Given the description of an element on the screen output the (x, y) to click on. 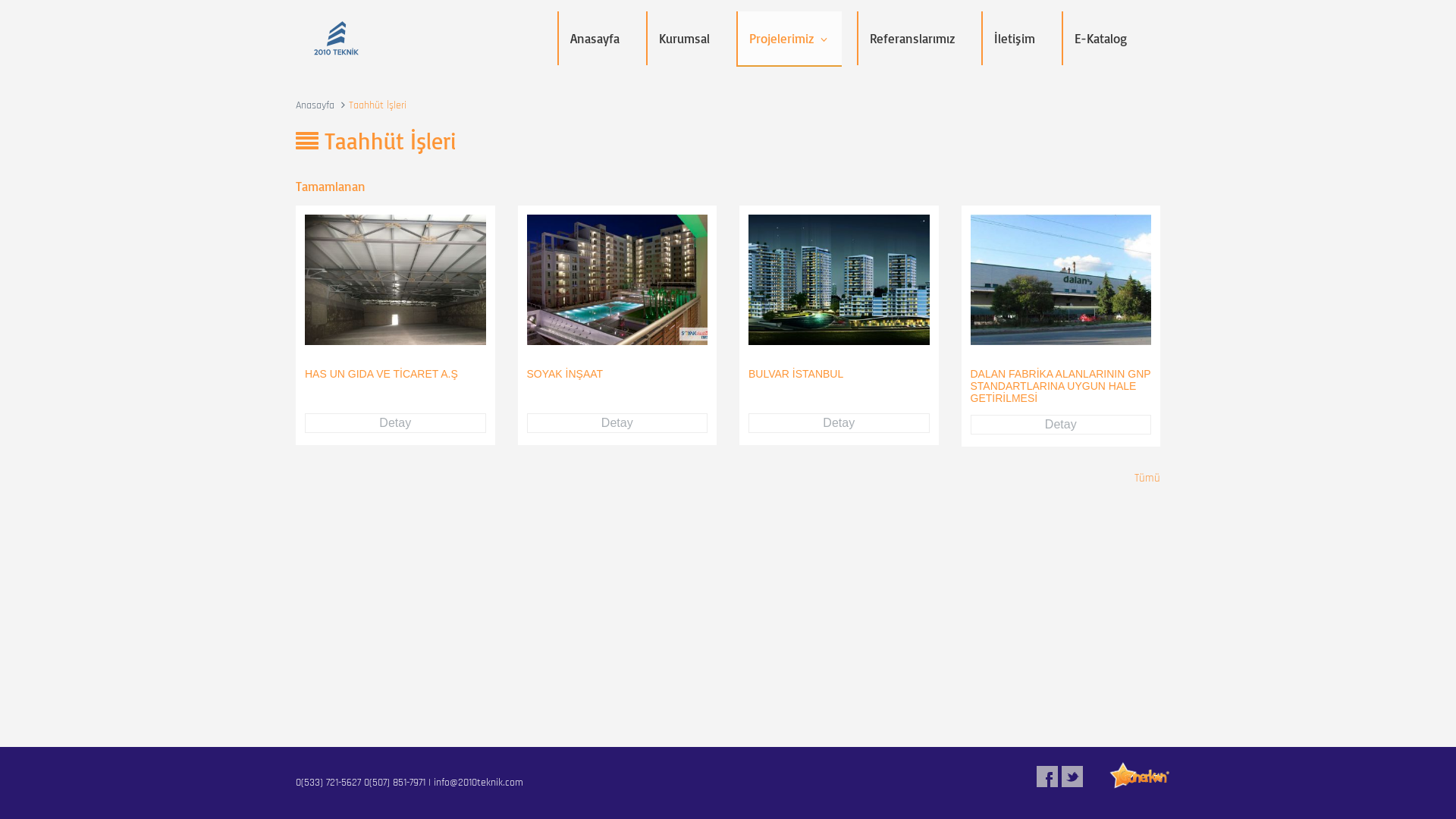
Projelerimiz Element type: text (789, 38)
Anasayfa Element type: text (594, 38)
Detay Element type: text (838, 423)
Kurumsal Element type: text (684, 38)
Detay Element type: text (395, 423)
Detay Element type: text (1060, 424)
Detay Element type: text (616, 423)
Anasayfa Element type: text (314, 105)
E-Katalog Element type: text (1100, 38)
